Given the description of an element on the screen output the (x, y) to click on. 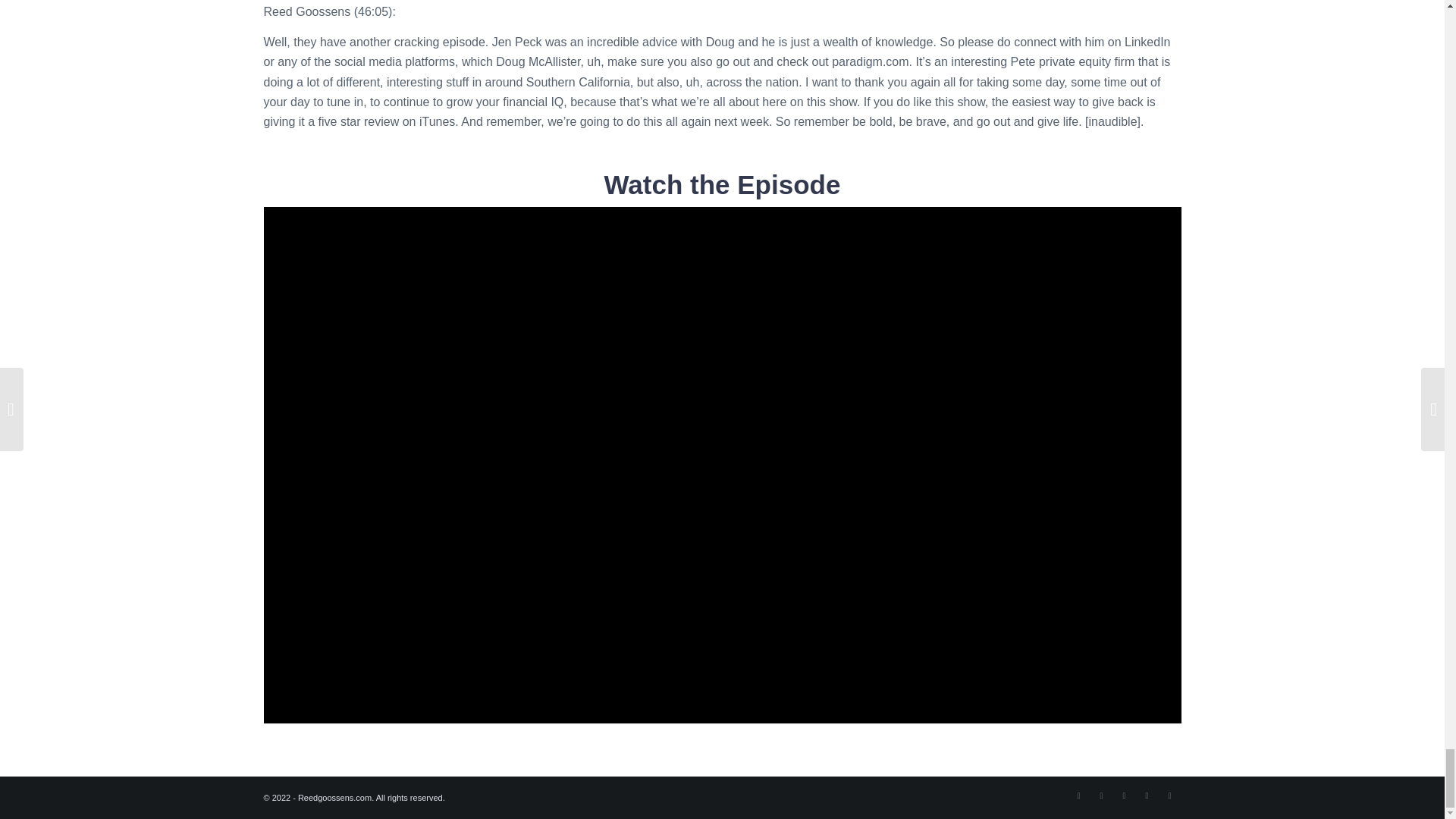
Instagram (1101, 794)
Facebook (1078, 794)
